Given the description of an element on the screen output the (x, y) to click on. 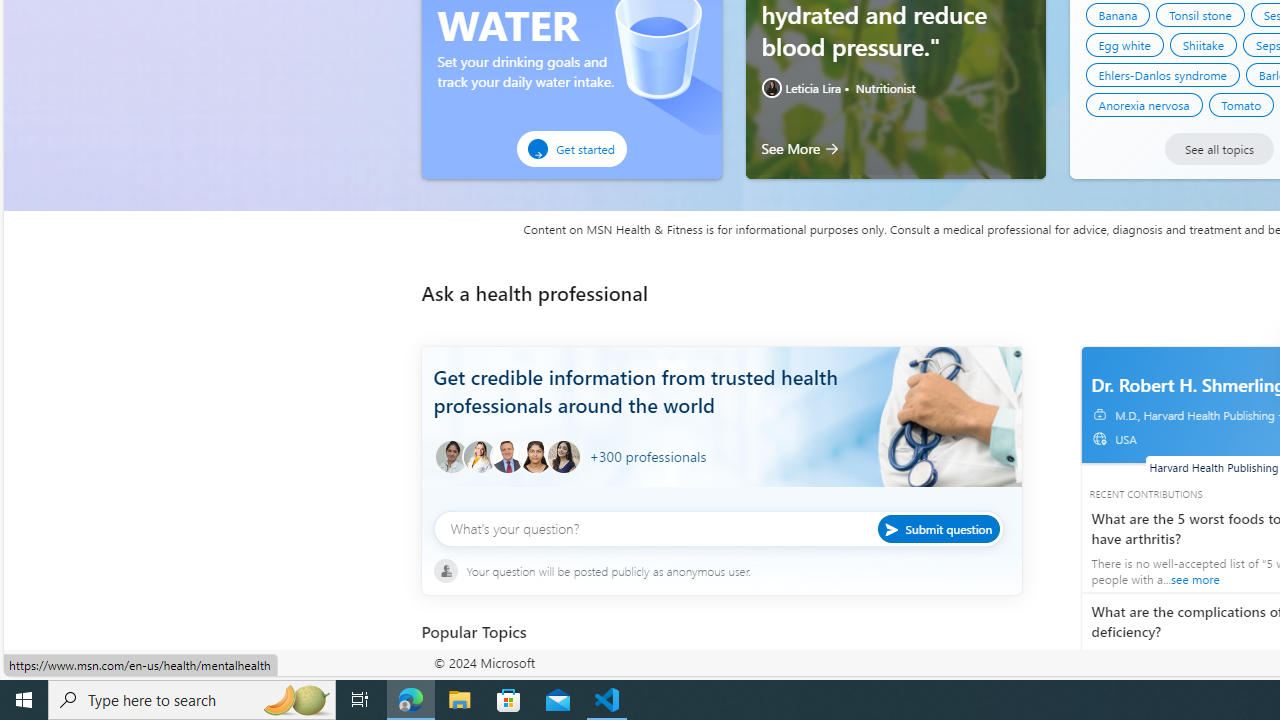
Shiitake (1202, 44)
Class: vecIn (1103, 443)
Class: svgRectangle (721, 540)
Class: askQuestionButtonArrowIcon (895, 528)
Pictorial representation of Gout Gout Condition (879, 682)
Class: health-tip-image (771, 87)
Tomato (1241, 104)
Pictorial representation of Gout (779, 682)
Ehlers-Danlos syndrome (1162, 75)
Class: vecOut (1099, 438)
Banana (1117, 14)
Tonsil stone (1200, 14)
See all topics (1218, 148)
